Given the description of an element on the screen output the (x, y) to click on. 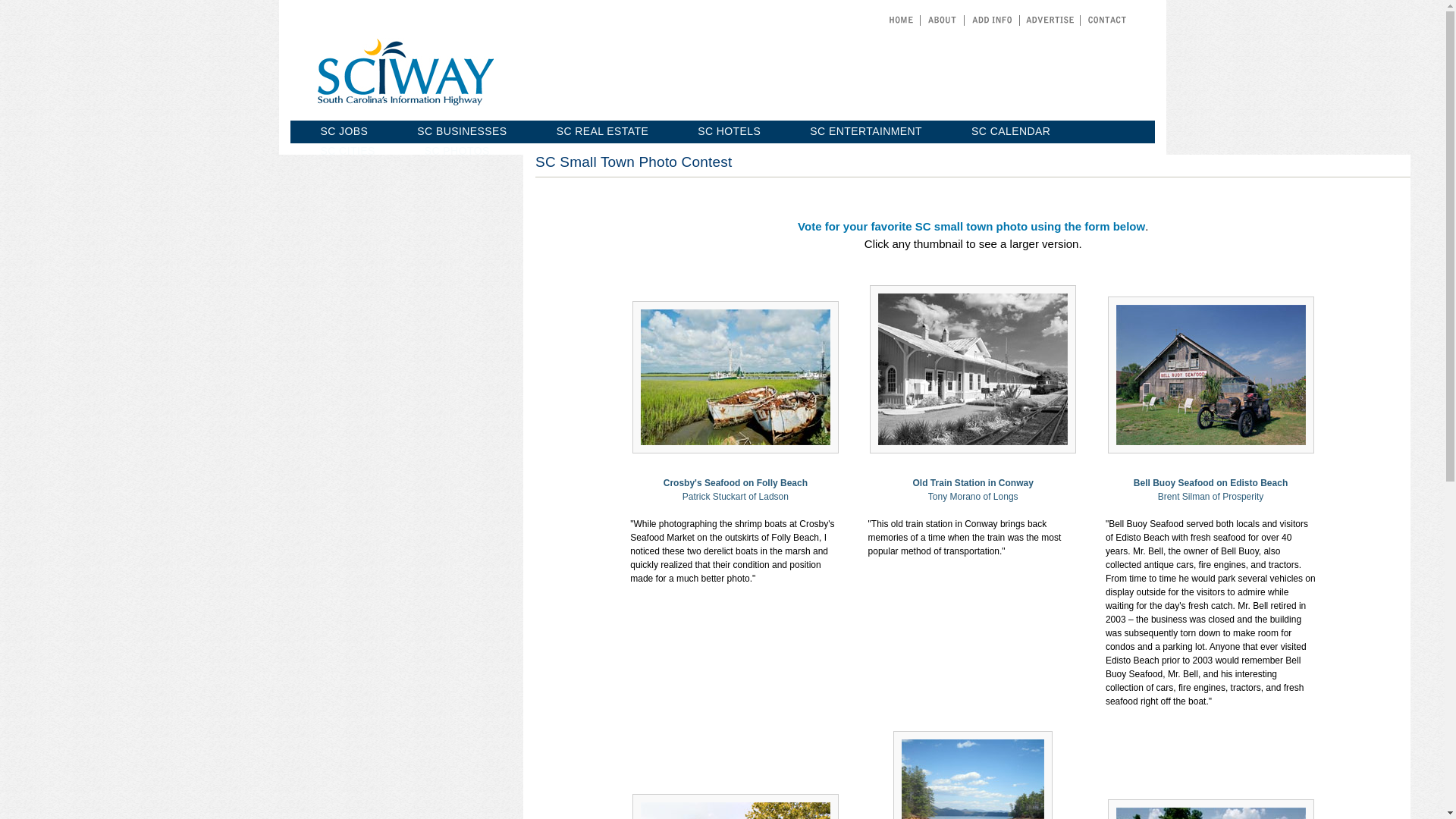
SC BUSINESSES (461, 131)
SC REAL ESTATE (602, 131)
SC CITIES (347, 150)
SC JOBS (344, 131)
SC HOTELS (728, 131)
SC CALENDAR (1010, 131)
SC ENTERTAINMENT (865, 131)
SC PHOTOS (457, 150)
